Given the description of an element on the screen output the (x, y) to click on. 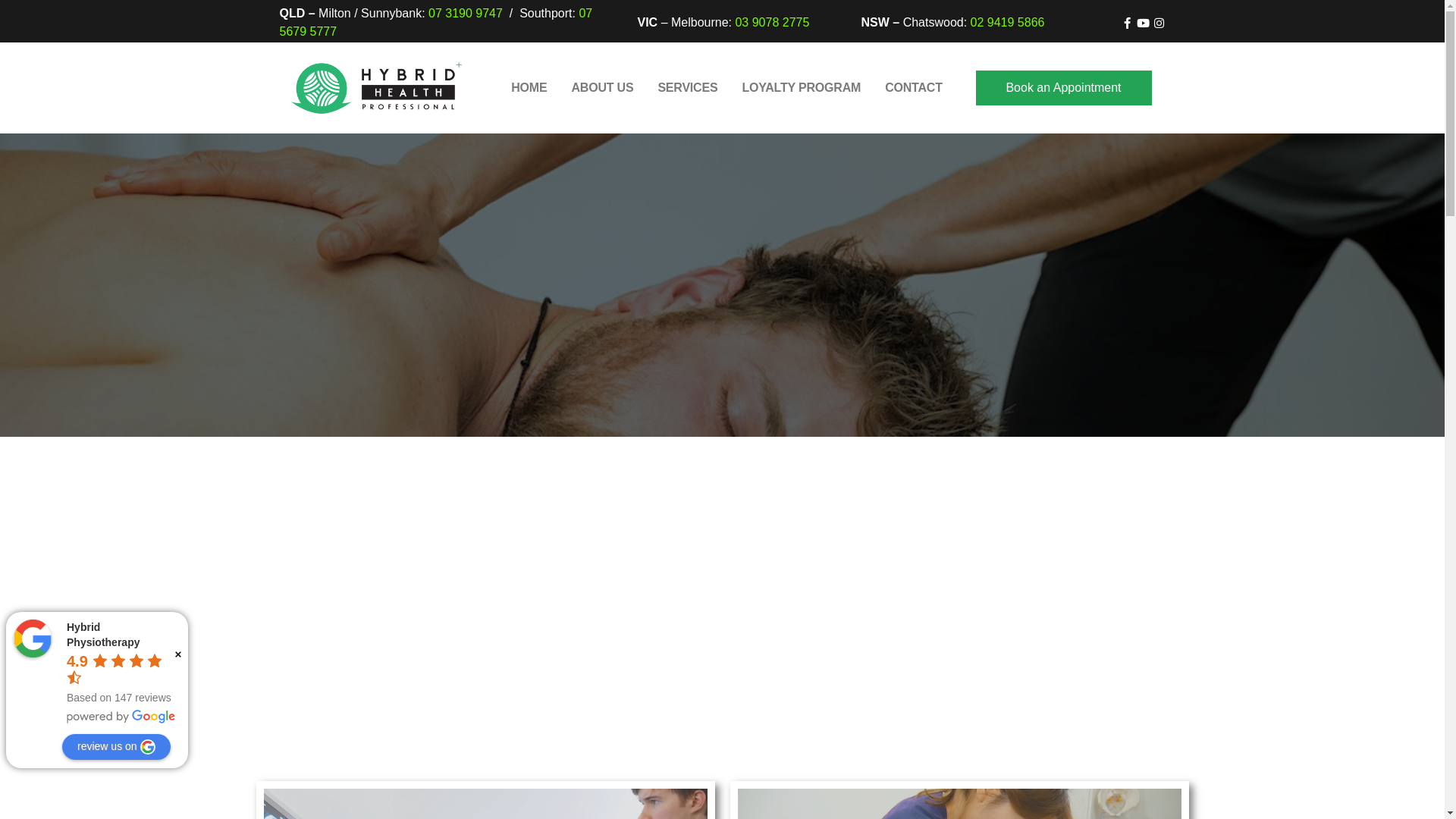
02 9419 5866 Element type: text (1007, 21)
CONTACT Element type: text (913, 87)
07 3190 9747 Element type: text (465, 12)
Hybrid Physiotherapy Element type: hover (32, 638)
Hybrid Physiotherapy Element type: text (102, 634)
review us on Element type: text (116, 746)
LOYALTY PROGRAM Element type: text (800, 87)
powered by Google Element type: hover (120, 716)
Book an Appointment Element type: text (1063, 87)
HOME Element type: text (528, 87)
07 5679 5777 Element type: text (435, 21)
ABOUT US Element type: text (601, 87)
SERVICES Element type: text (687, 87)
03 9078 2775 Element type: text (771, 21)
